Given the description of an element on the screen output the (x, y) to click on. 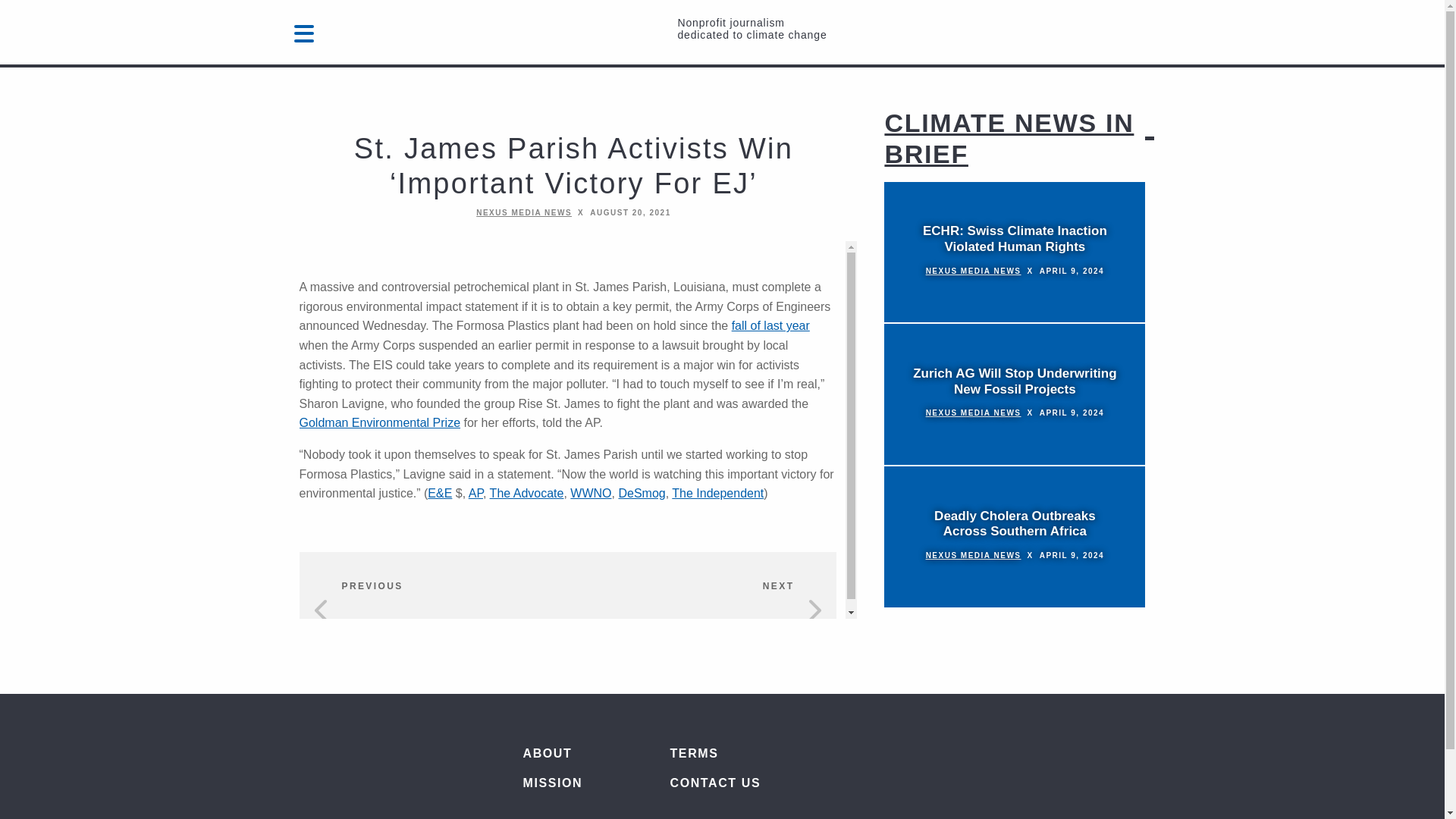
NEXUS MEDIA NEWS (974, 270)
TERMS (759, 753)
The Advocate (526, 492)
DeSmog (641, 492)
CLIMATE NEWS IN BRIEF (1008, 138)
MISSION (575, 782)
NEXUS MEDIA NEWS (974, 412)
AP (475, 492)
WWNO (590, 492)
fall of last year (770, 325)
The Independent (716, 492)
NEXUS MEDIA NEWS (524, 212)
CONTACT US (759, 782)
NEXUS MEDIA NEWS (974, 555)
ABOUT (575, 753)
